Given the description of an element on the screen output the (x, y) to click on. 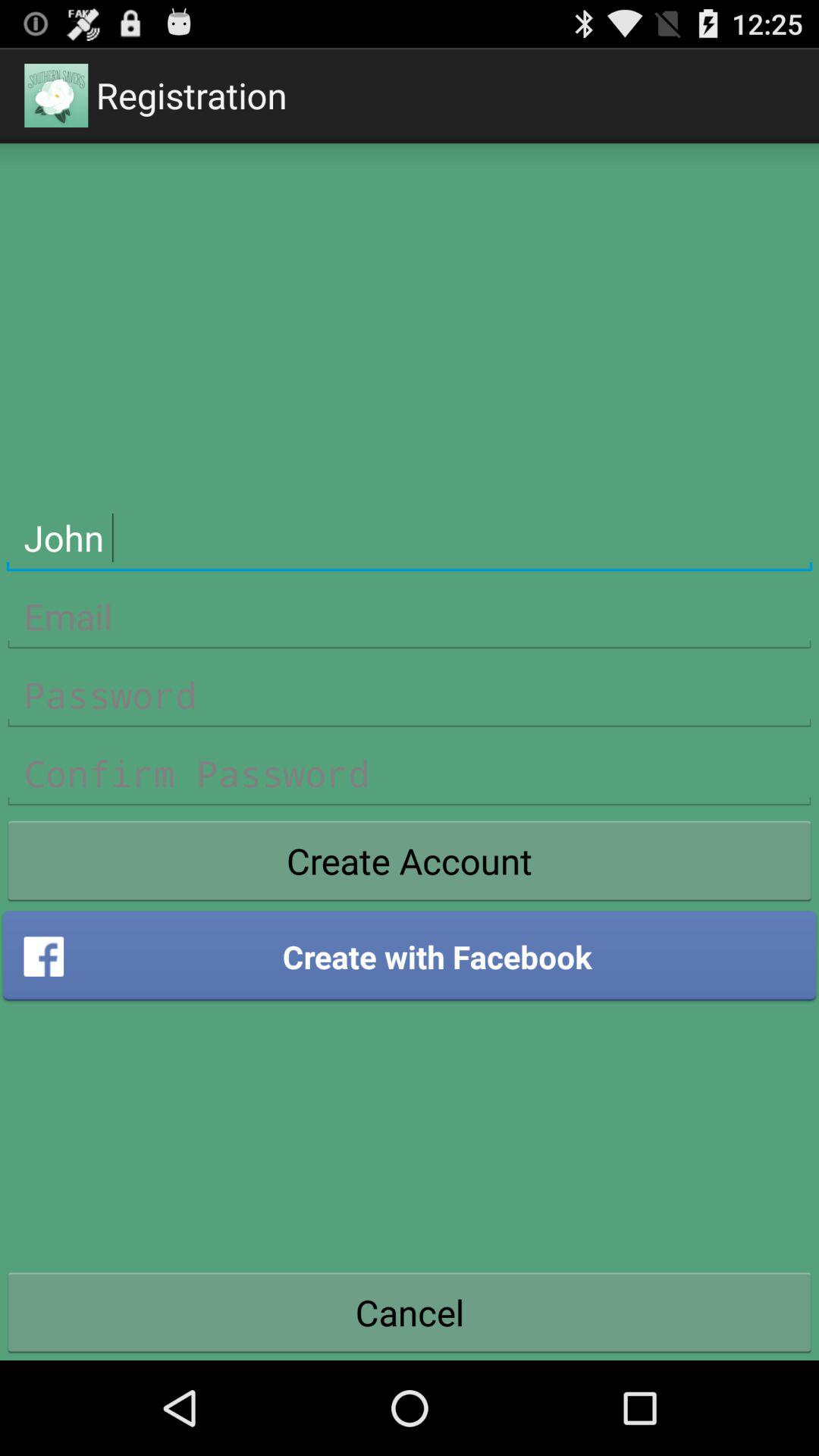
enter password (409, 695)
